Given the description of an element on the screen output the (x, y) to click on. 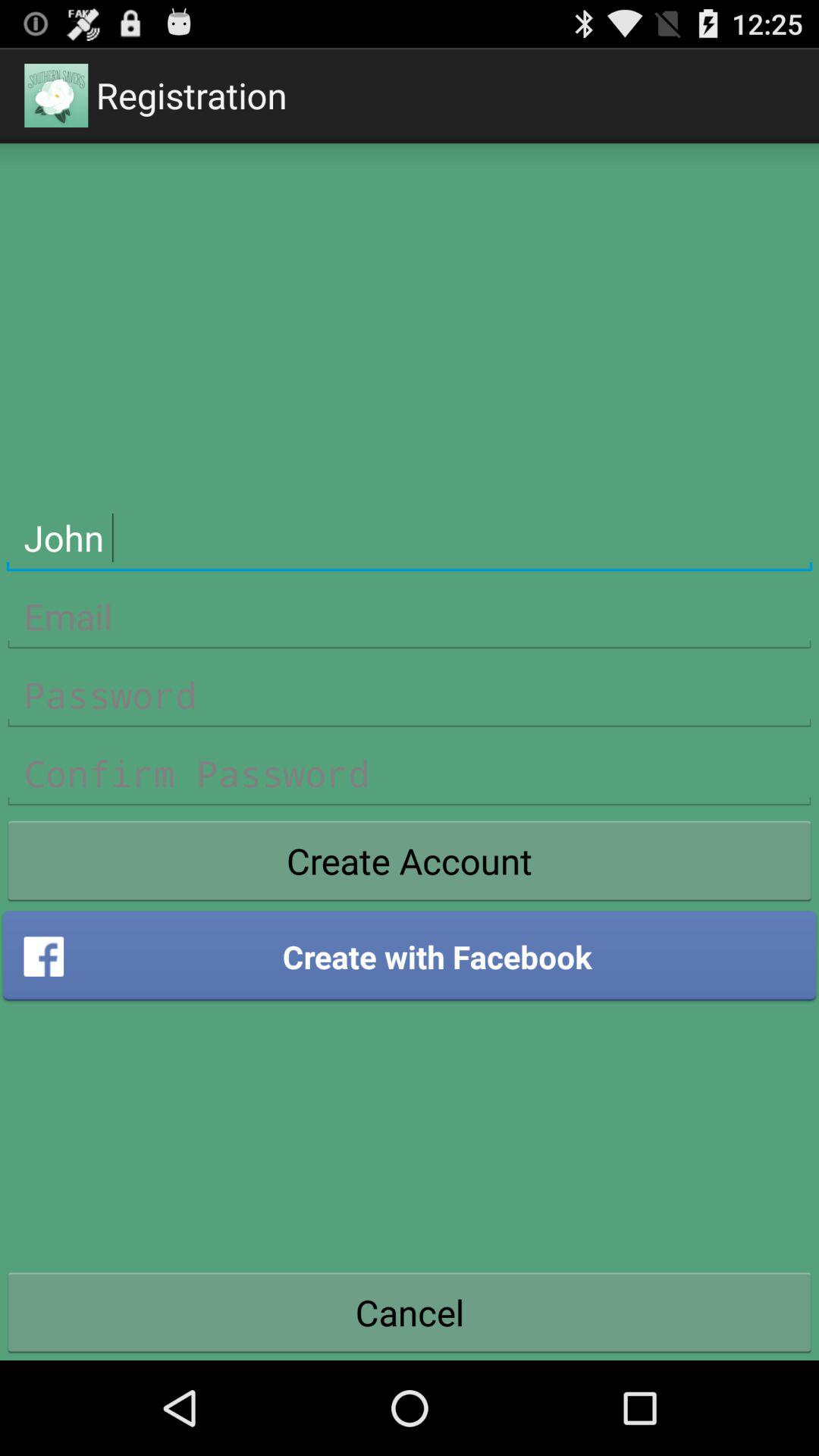
enter password (409, 695)
